Given the description of an element on the screen output the (x, y) to click on. 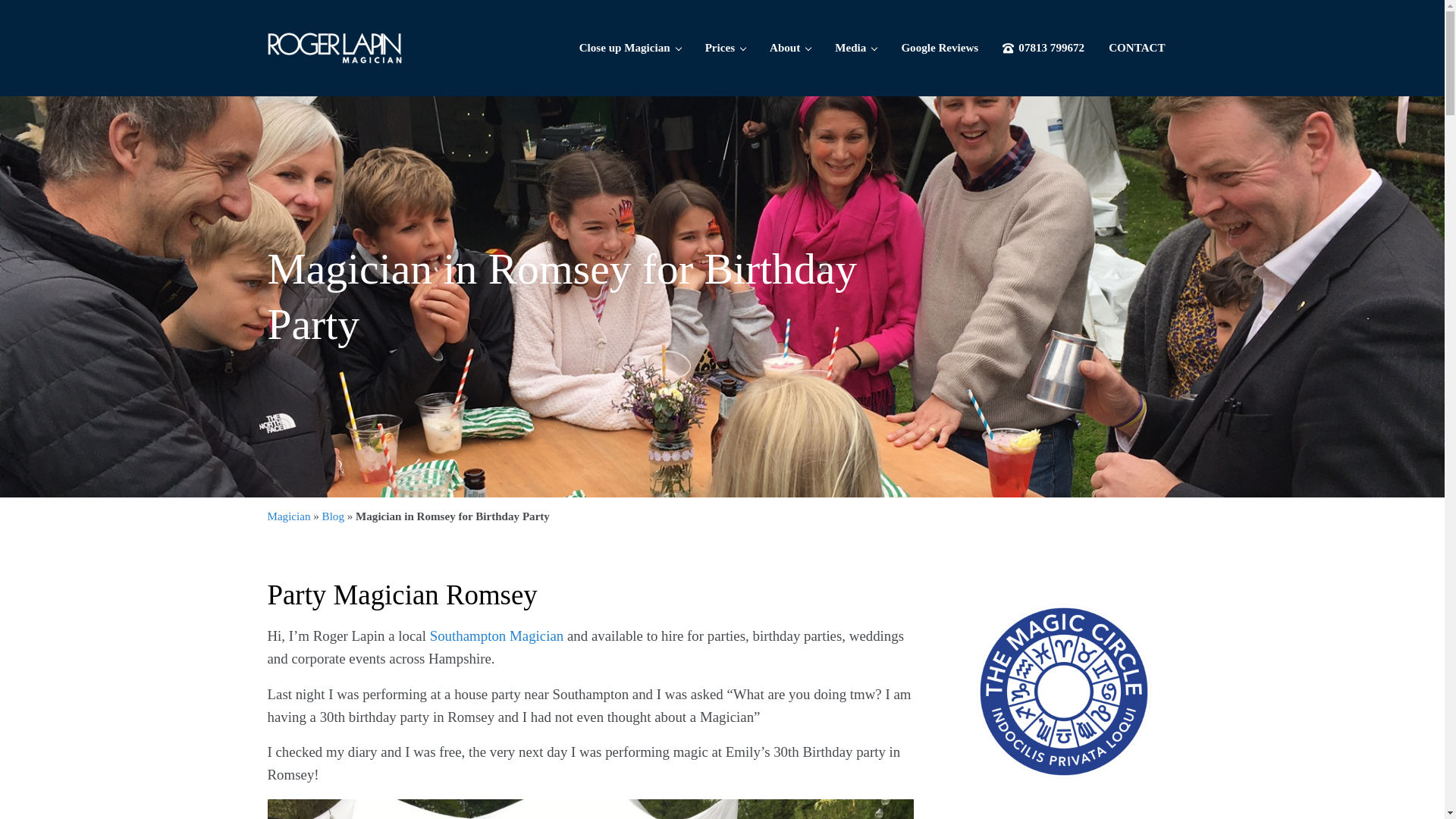
Close up Magician (630, 47)
About (789, 47)
Prices (725, 47)
